Given the description of an element on the screen output the (x, y) to click on. 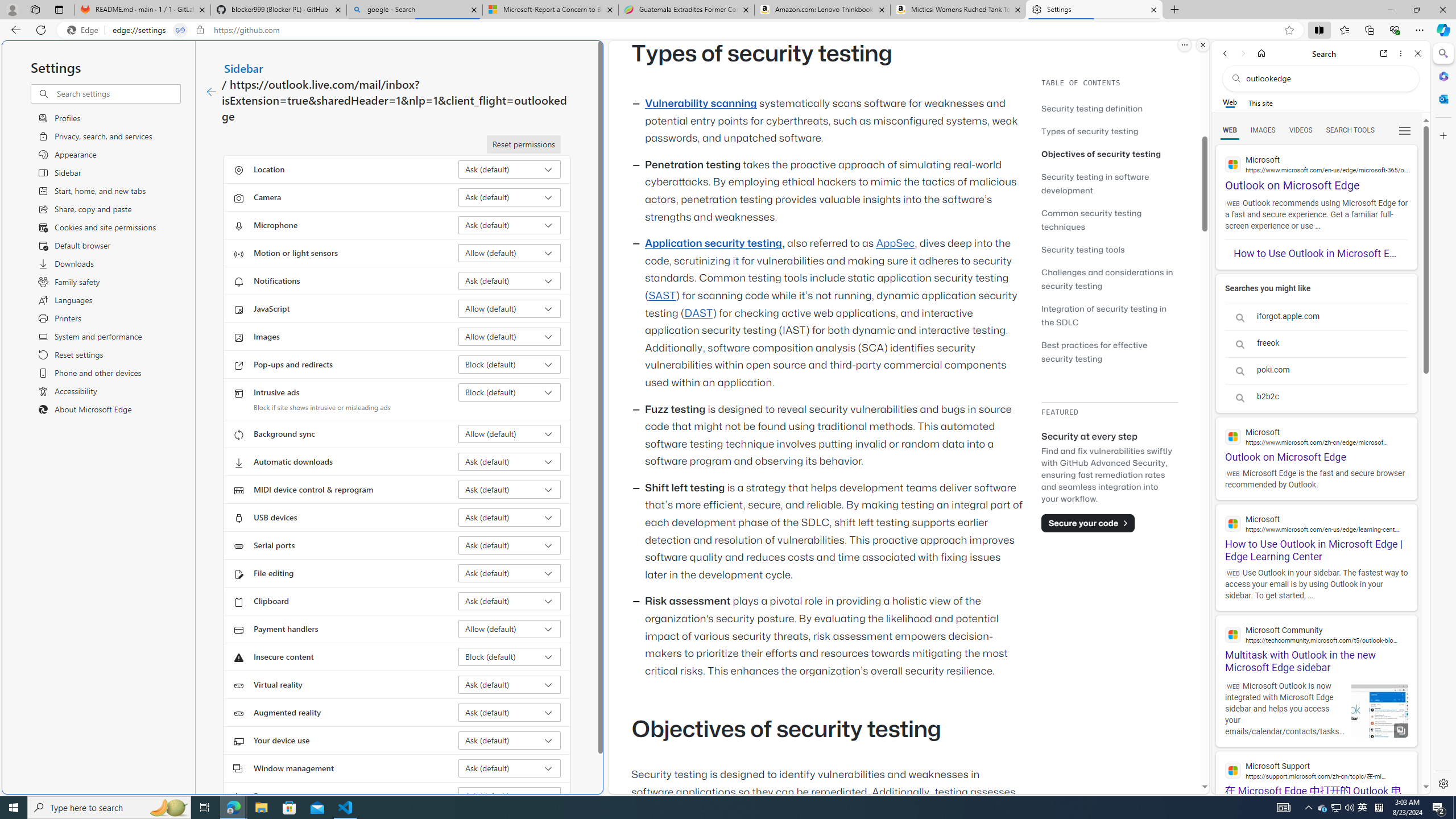
SAST (661, 295)
Application security testing (713, 243)
How to Use Outlook in Microsoft Edge | Edge Learning Center (1315, 533)
Microsoft Support (1315, 770)
iforgot.apple.com (1315, 317)
Objectives of security testing (1101, 153)
File editing Ask (default) (509, 573)
Searches you might likeiforgot.apple.comfreeokpoki.comb2b2c (1315, 343)
Augmented reality Ask (default) (509, 712)
poki.com (1315, 370)
